Given the description of an element on the screen output the (x, y) to click on. 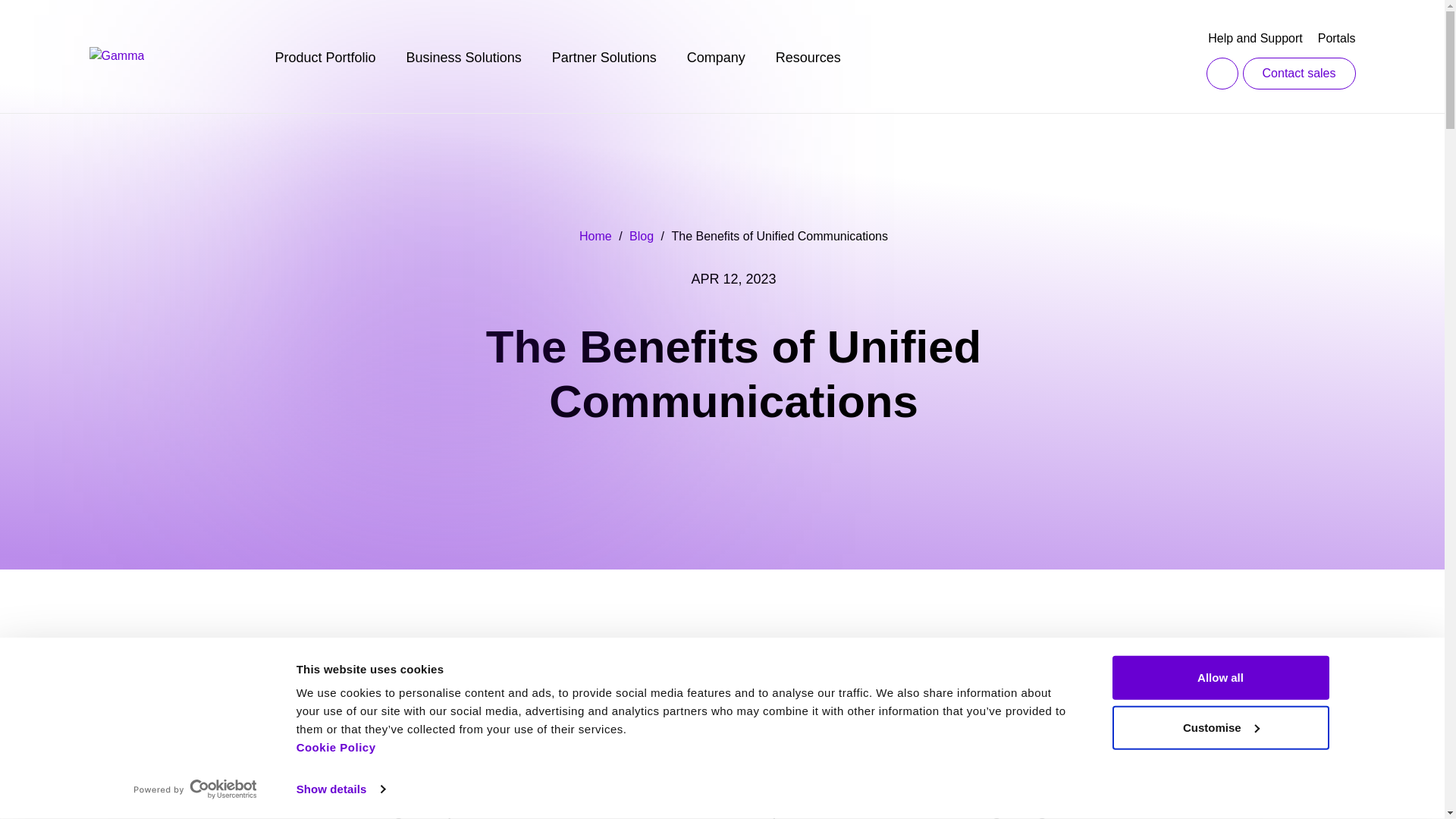
Show details (340, 789)
Cookie Policy (336, 747)
